Given the description of an element on the screen output the (x, y) to click on. 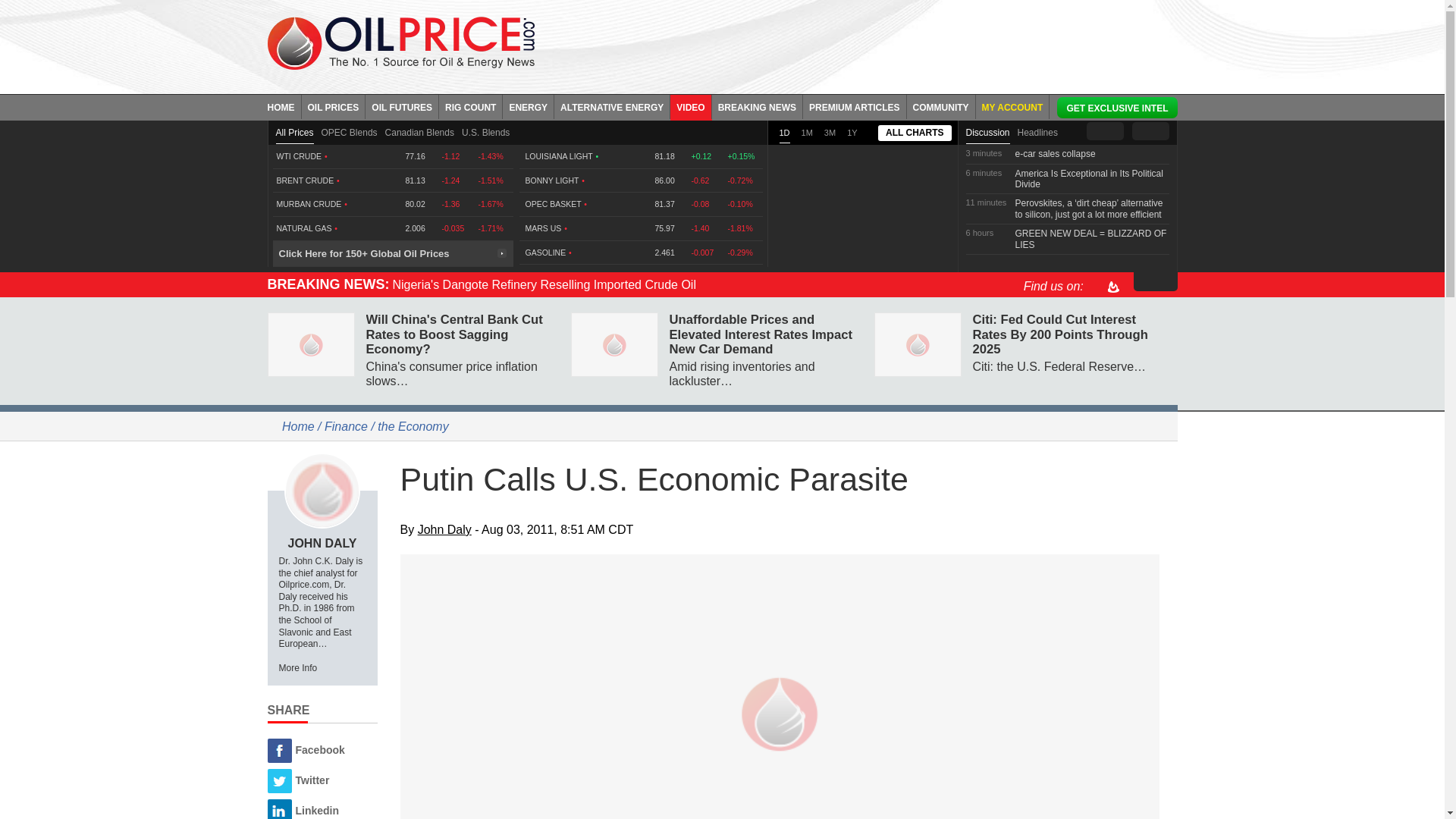
COMMUNITY (941, 106)
BREAKING NEWS (757, 106)
HOME (283, 106)
ALTERNATIVE ENERGY (611, 106)
John Daly (321, 490)
MY ACCOUNT (1012, 106)
PREMIUM ARTICLES (855, 106)
RIG COUNT (470, 106)
ENERGY (528, 106)
VIDEO (690, 106)
OIL FUTURES (402, 106)
Oil prices - Oilprice.com (400, 42)
OIL PRICES (333, 106)
